Given the description of an element on the screen output the (x, y) to click on. 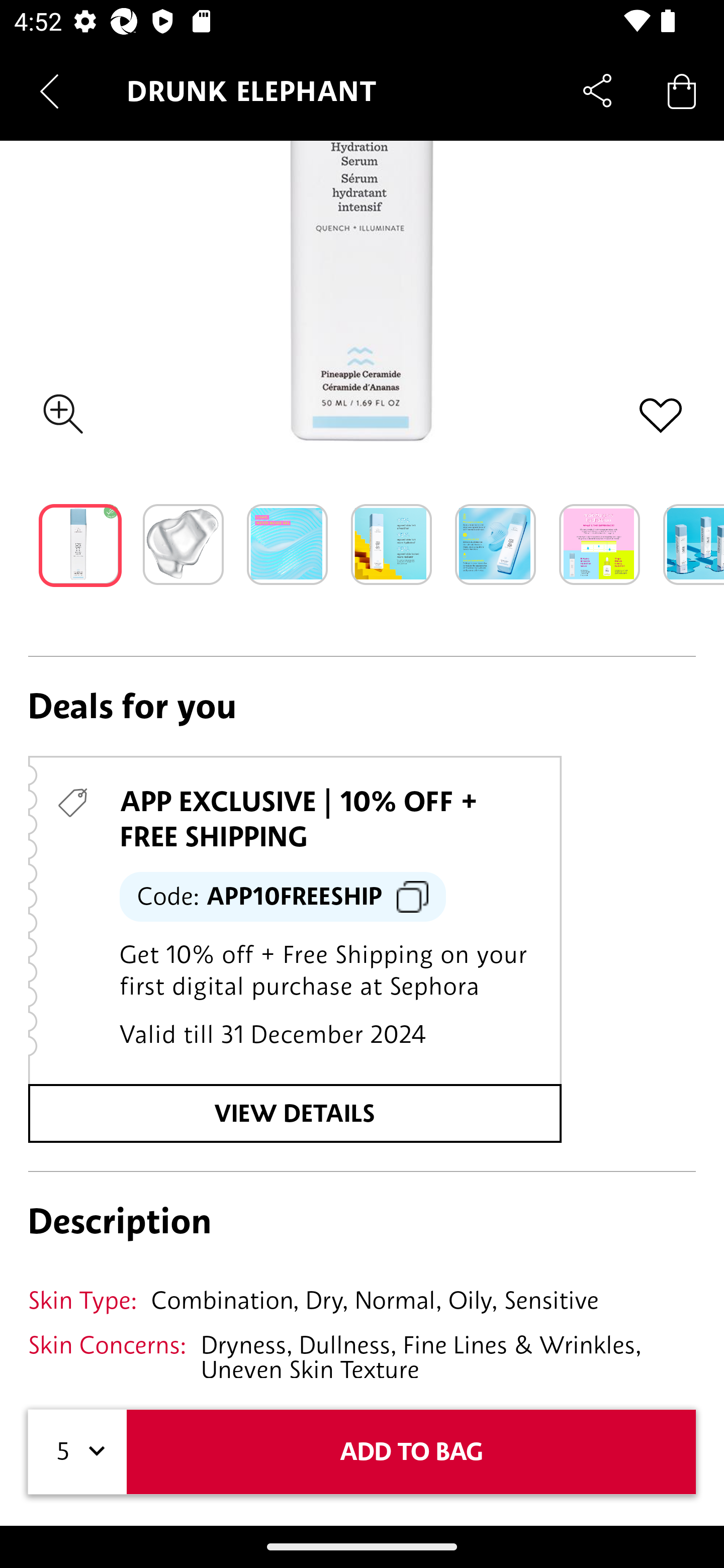
Navigate up (49, 91)
Share (597, 90)
Bag (681, 90)
VIEW DETAILS (294, 1113)
5 (77, 1451)
ADD TO BAG (410, 1451)
